Given the description of an element on the screen output the (x, y) to click on. 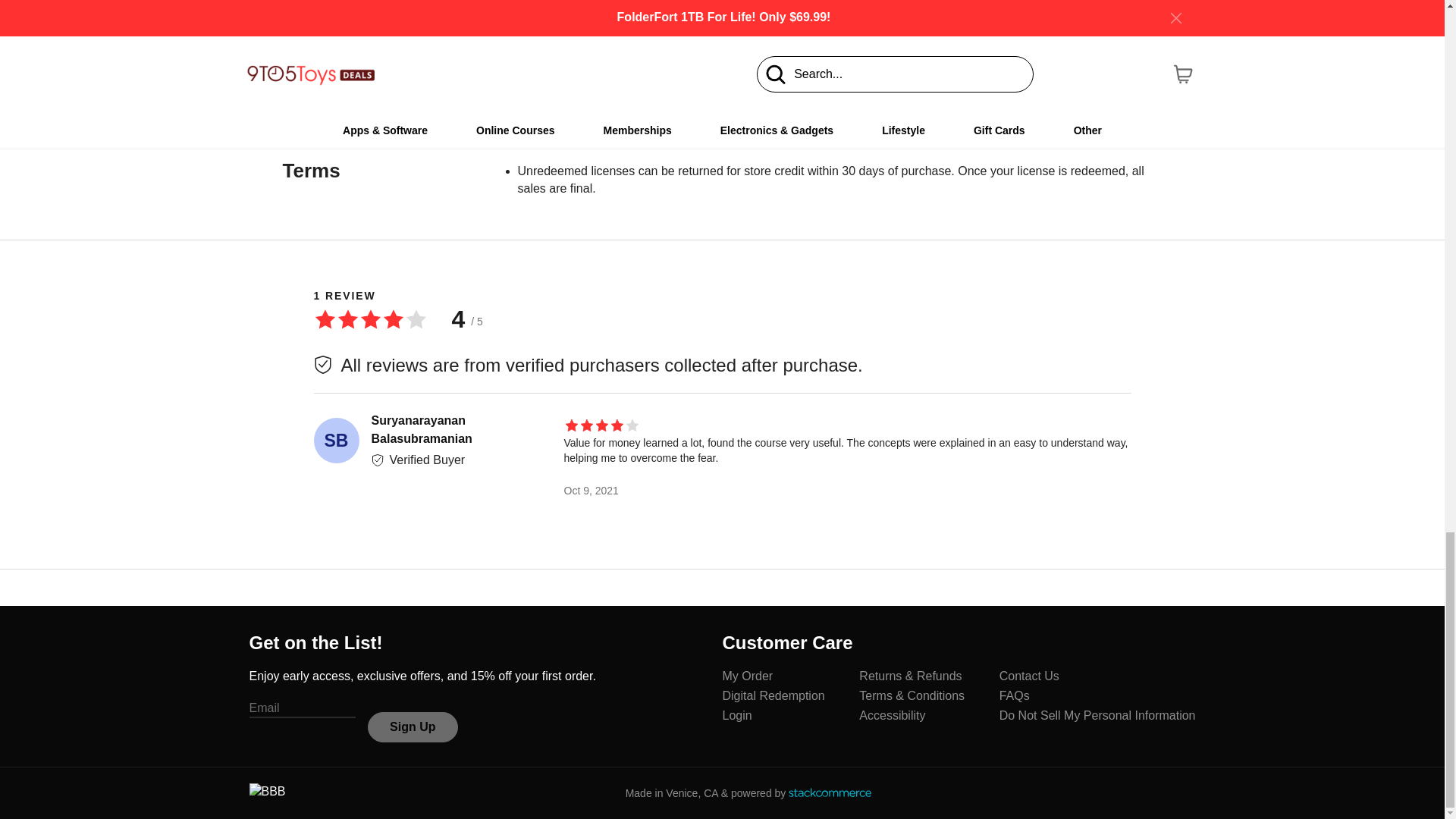
StackCommerce (829, 792)
